Given the description of an element on the screen output the (x, y) to click on. 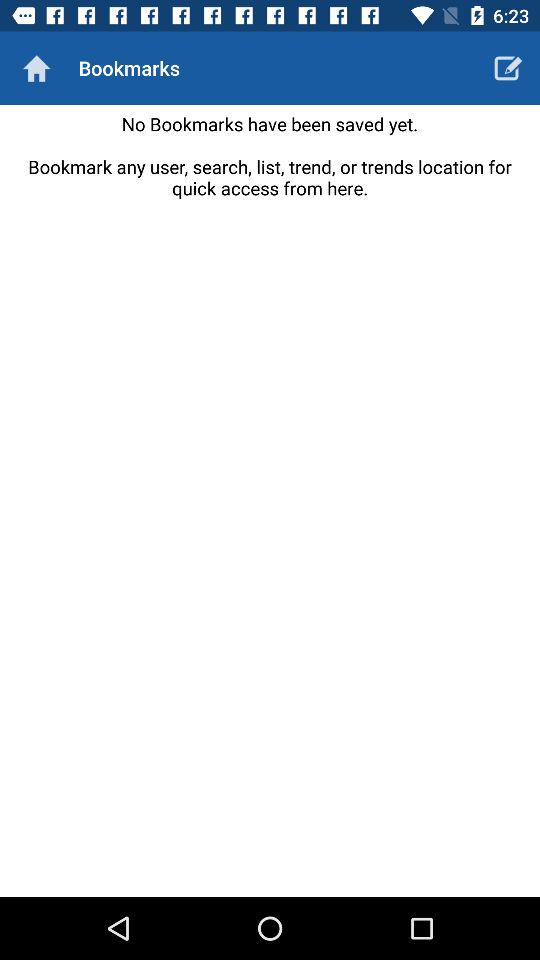
go to homepage (36, 68)
